Given the description of an element on the screen output the (x, y) to click on. 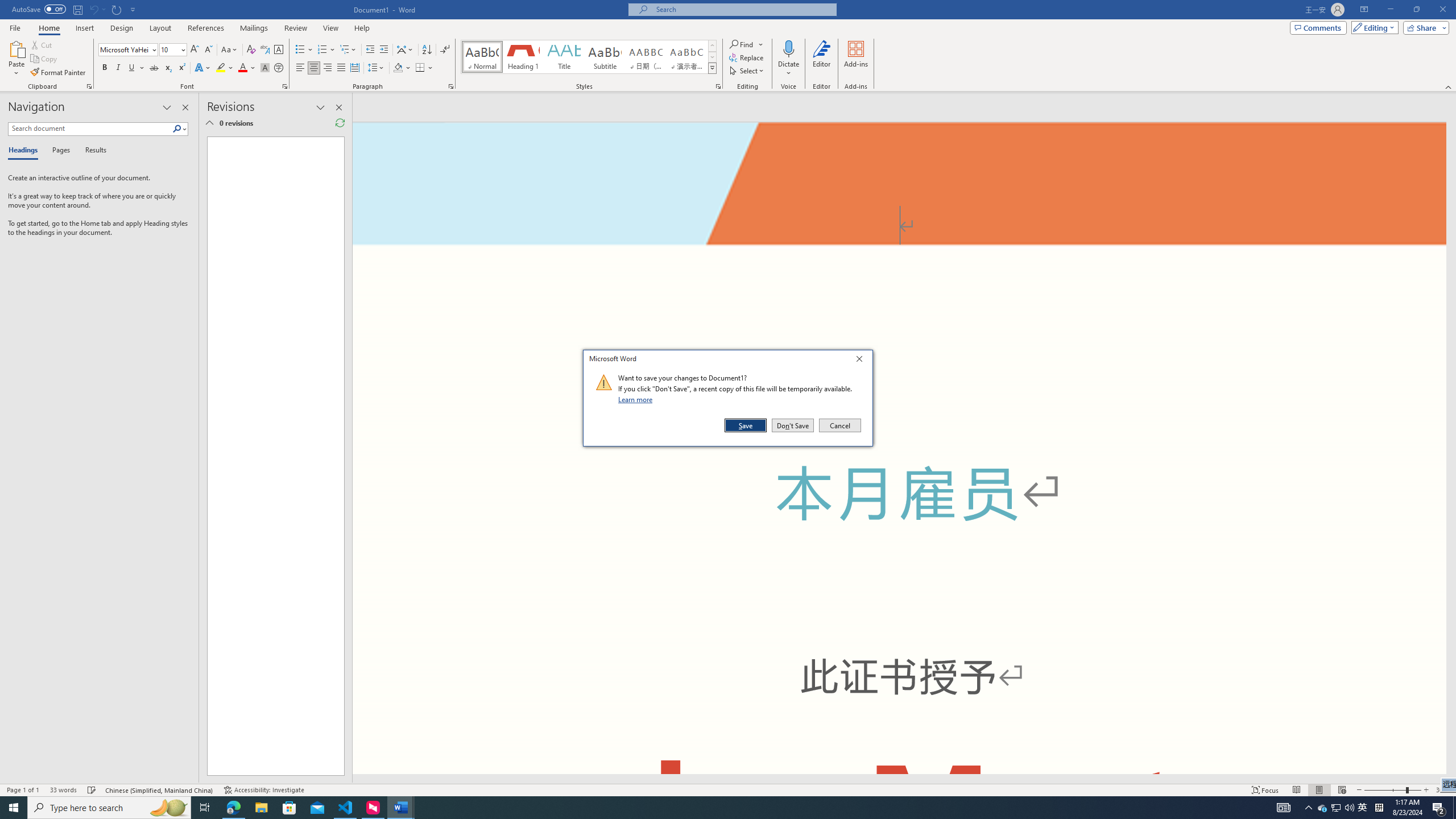
Text Highlight Color Yellow (220, 67)
Mode (1372, 27)
Class: NetUIScrollBar (898, 778)
Show desktop (1454, 807)
Line and Paragraph Spacing (376, 67)
Decrease Indent (370, 49)
User Promoted Notification Area (1336, 807)
